Given the description of an element on the screen output the (x, y) to click on. 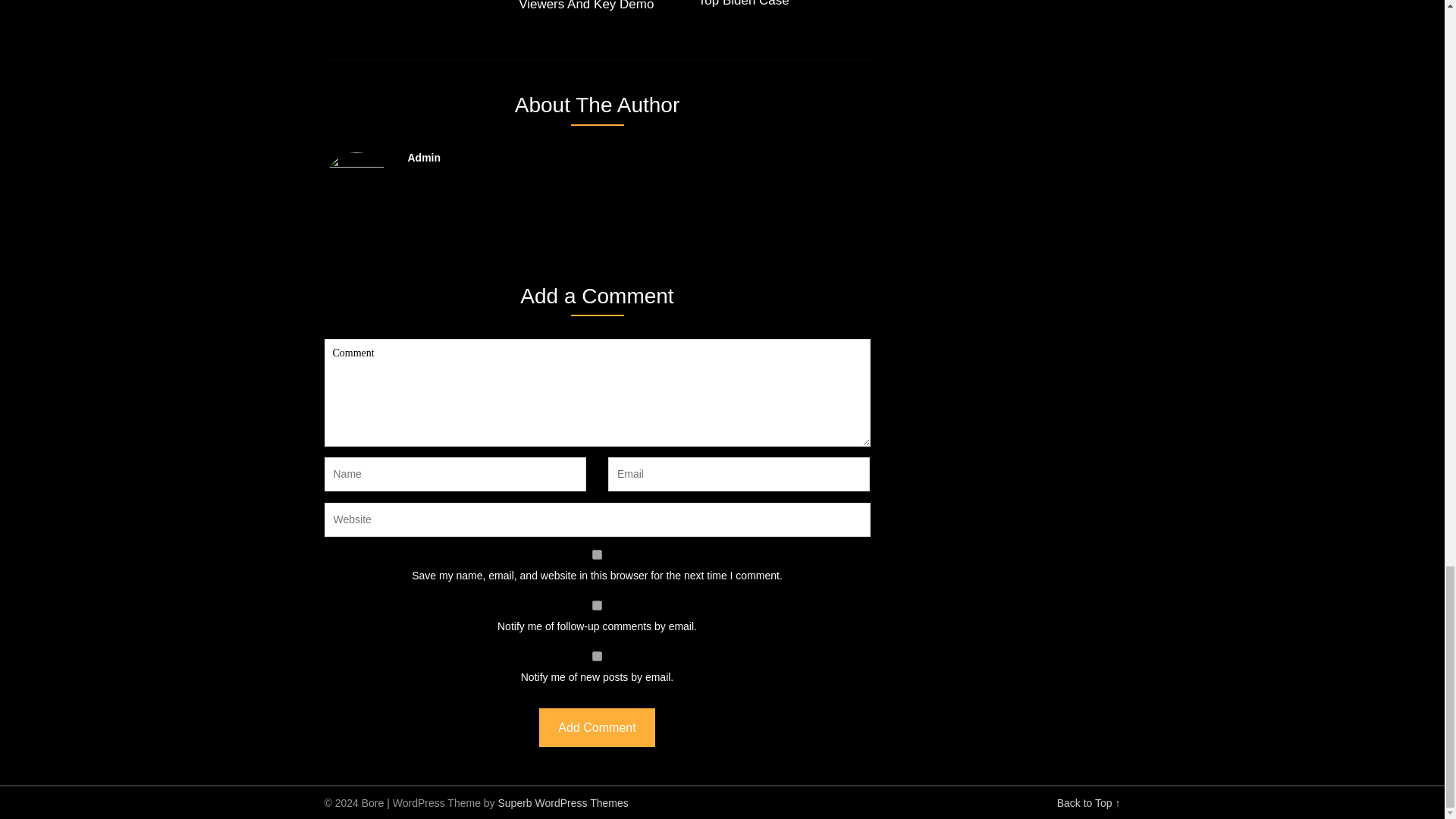
Add Comment (595, 727)
yes (597, 554)
subscribe (597, 655)
subscribe (597, 605)
